Given the description of an element on the screen output the (x, y) to click on. 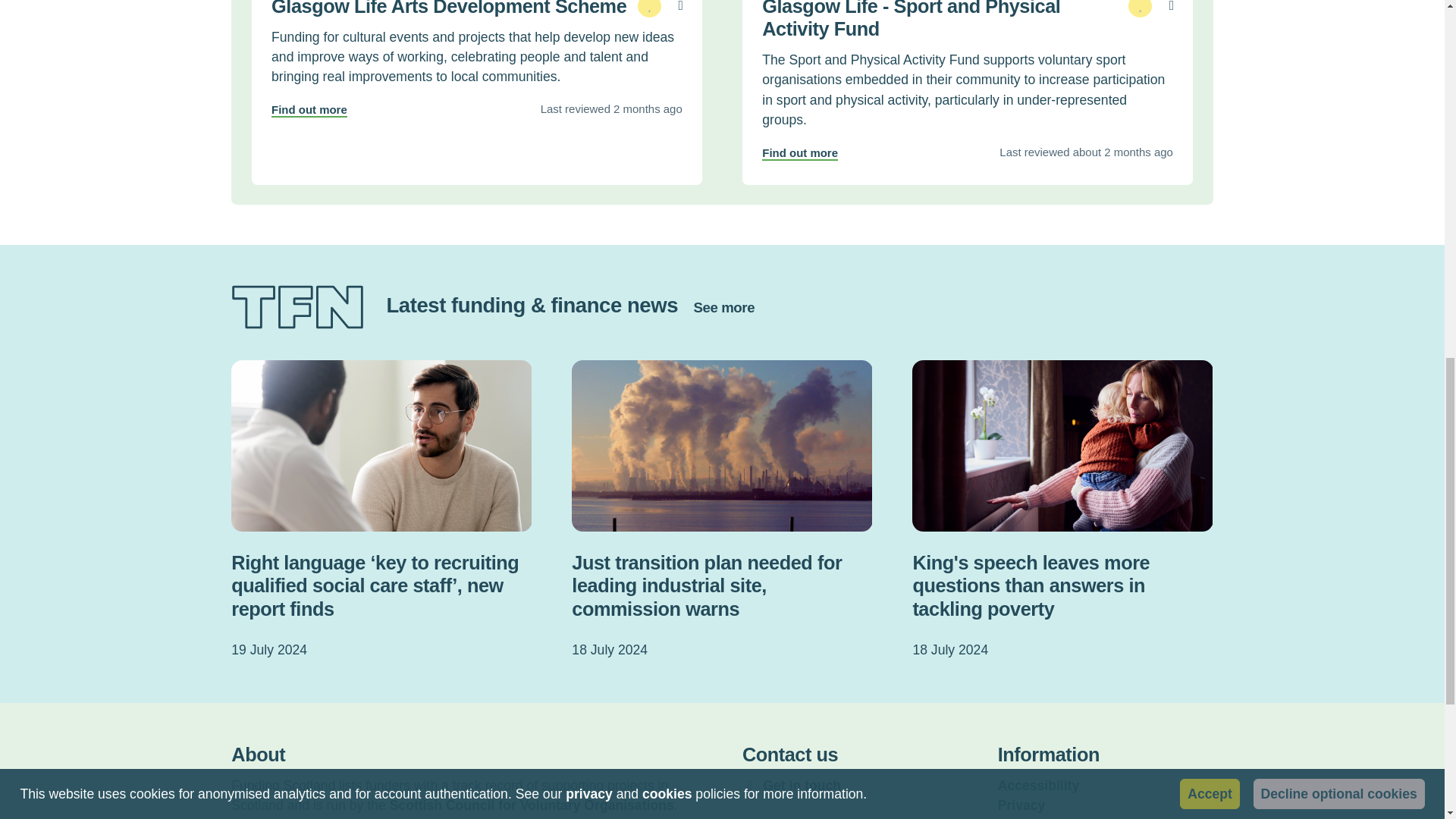
Fund menu (1170, 7)
Fund menu (680, 7)
